Given the description of an element on the screen output the (x, y) to click on. 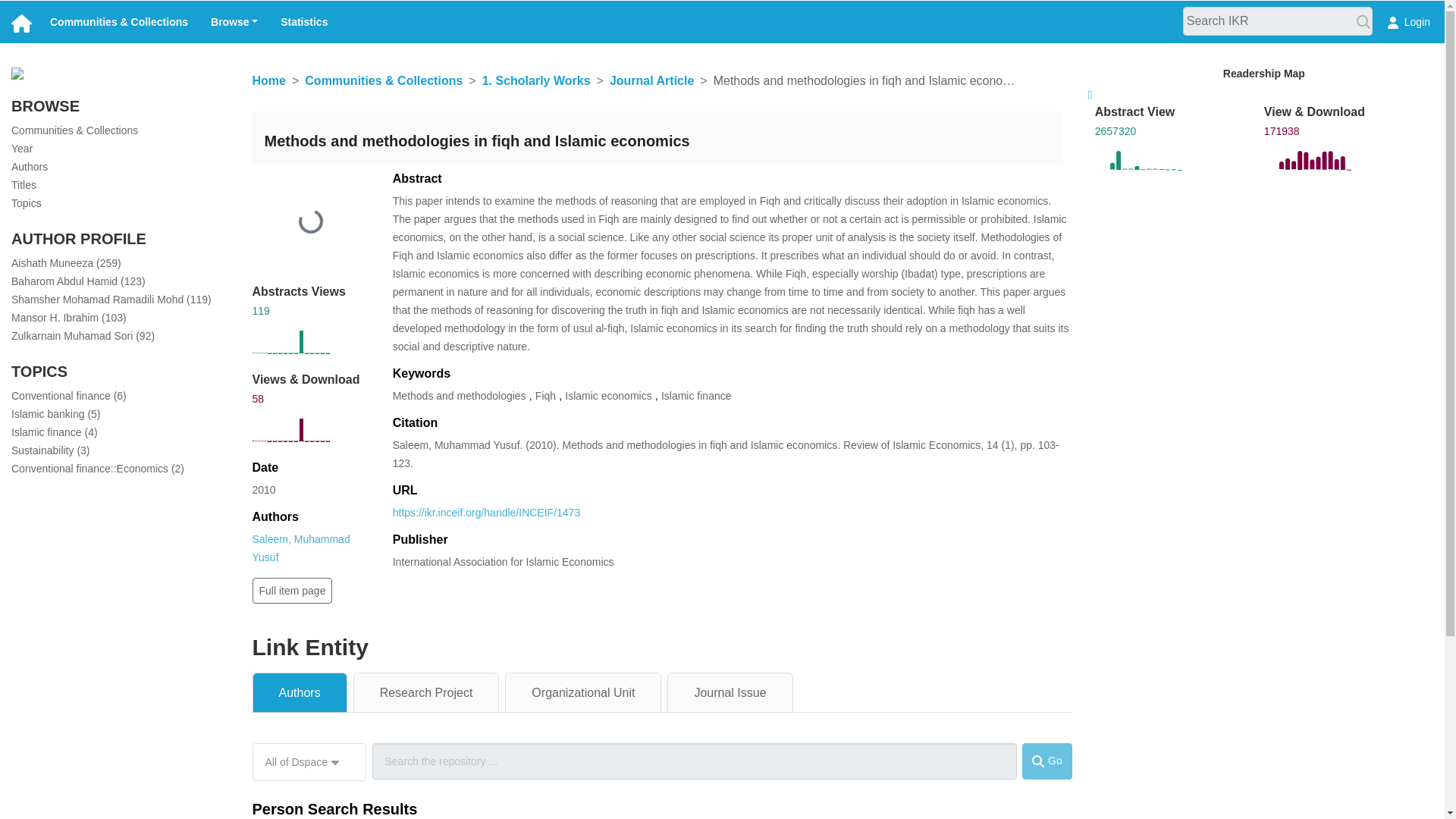
Titles (23, 184)
Statistics (304, 21)
Search IKR (1363, 22)
Browse (234, 21)
Login (1408, 21)
Year (21, 148)
Statistics (304, 21)
TOPICS (38, 371)
Topics (26, 203)
1. Scholarly Works (536, 80)
Authors (29, 166)
Home (268, 80)
AUTHOR PROFILE (79, 238)
